Given the description of an element on the screen output the (x, y) to click on. 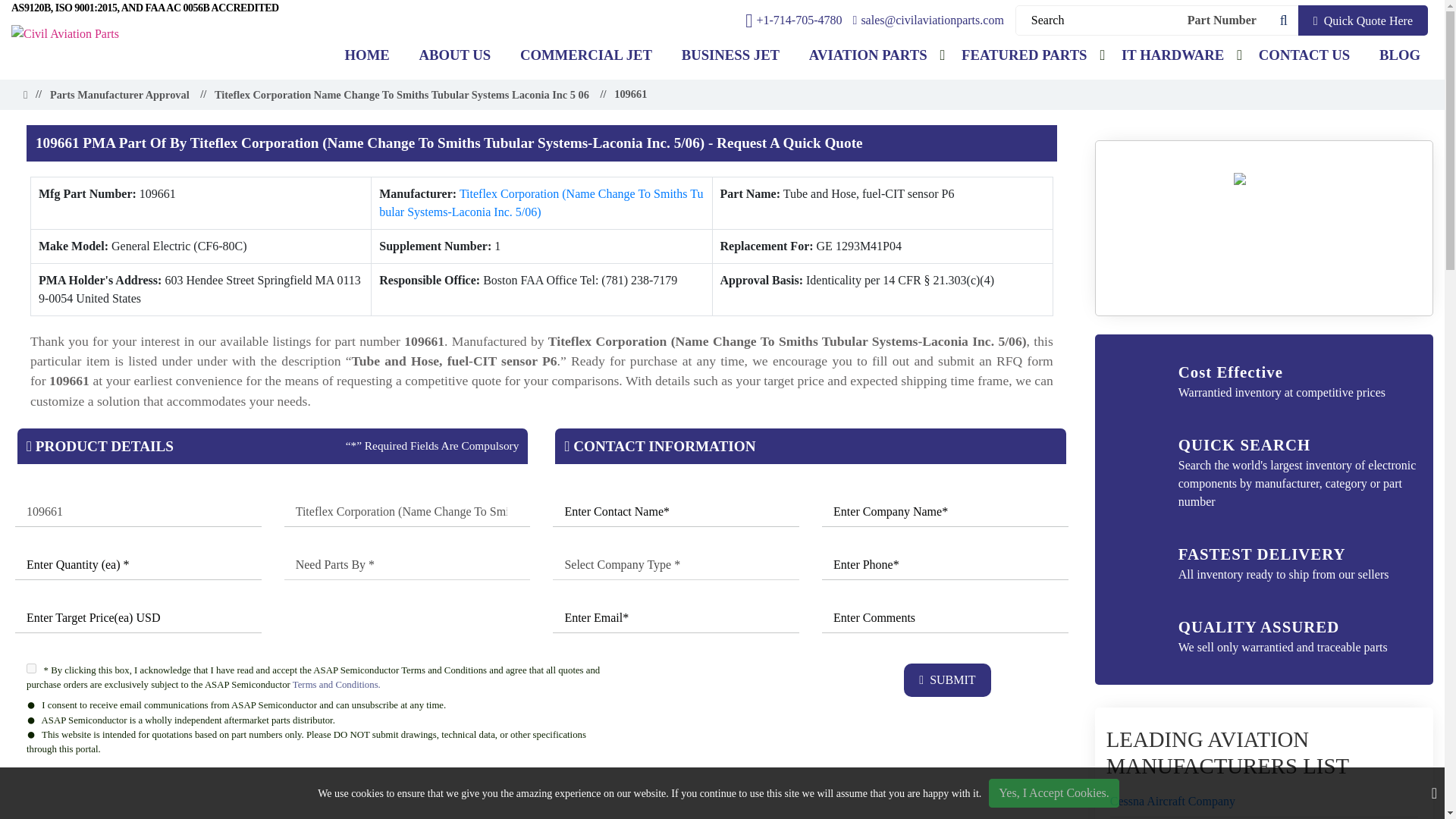
RFQ disclaimer (541, 794)
Terms and Conditions. (336, 684)
FEATURED PARTS (1024, 54)
AVIATION PARTS (868, 54)
Cessna Aircraft Company (1171, 801)
  SUBMIT (947, 679)
HOME (367, 54)
Parts Manufacturer Approval (119, 95)
ABOUT US (454, 54)
BLOG (1399, 54)
BUSINESS JET (730, 54)
COMMERCIAL JET (585, 54)
IT HARDWARE (1172, 54)
  Quick Quote Here (1363, 20)
